Given the description of an element on the screen output the (x, y) to click on. 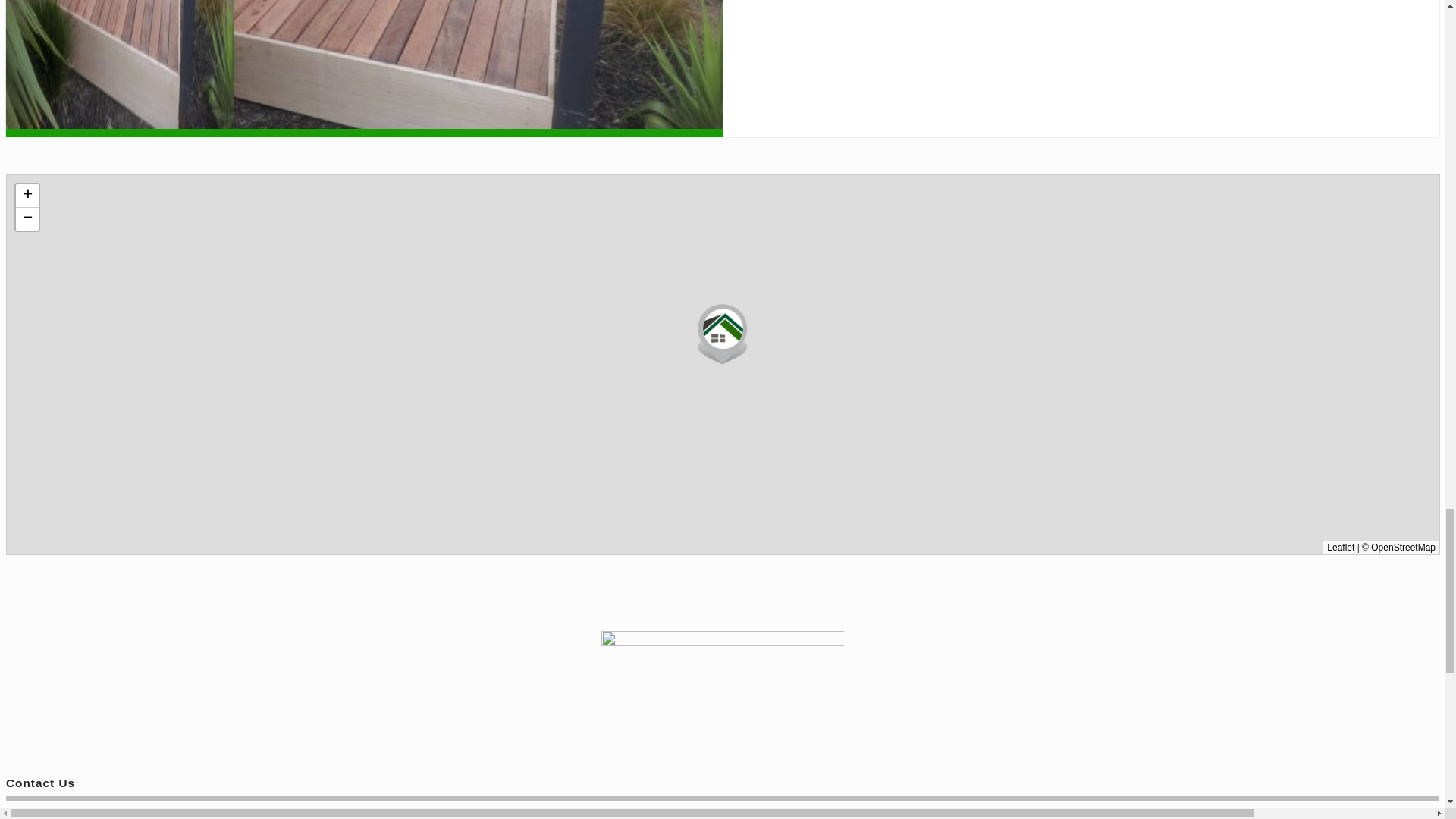
Zoom out (27, 219)
home (721, 691)
Zoom in (27, 196)
A JS library for interactive maps (1340, 547)
